Given the description of an element on the screen output the (x, y) to click on. 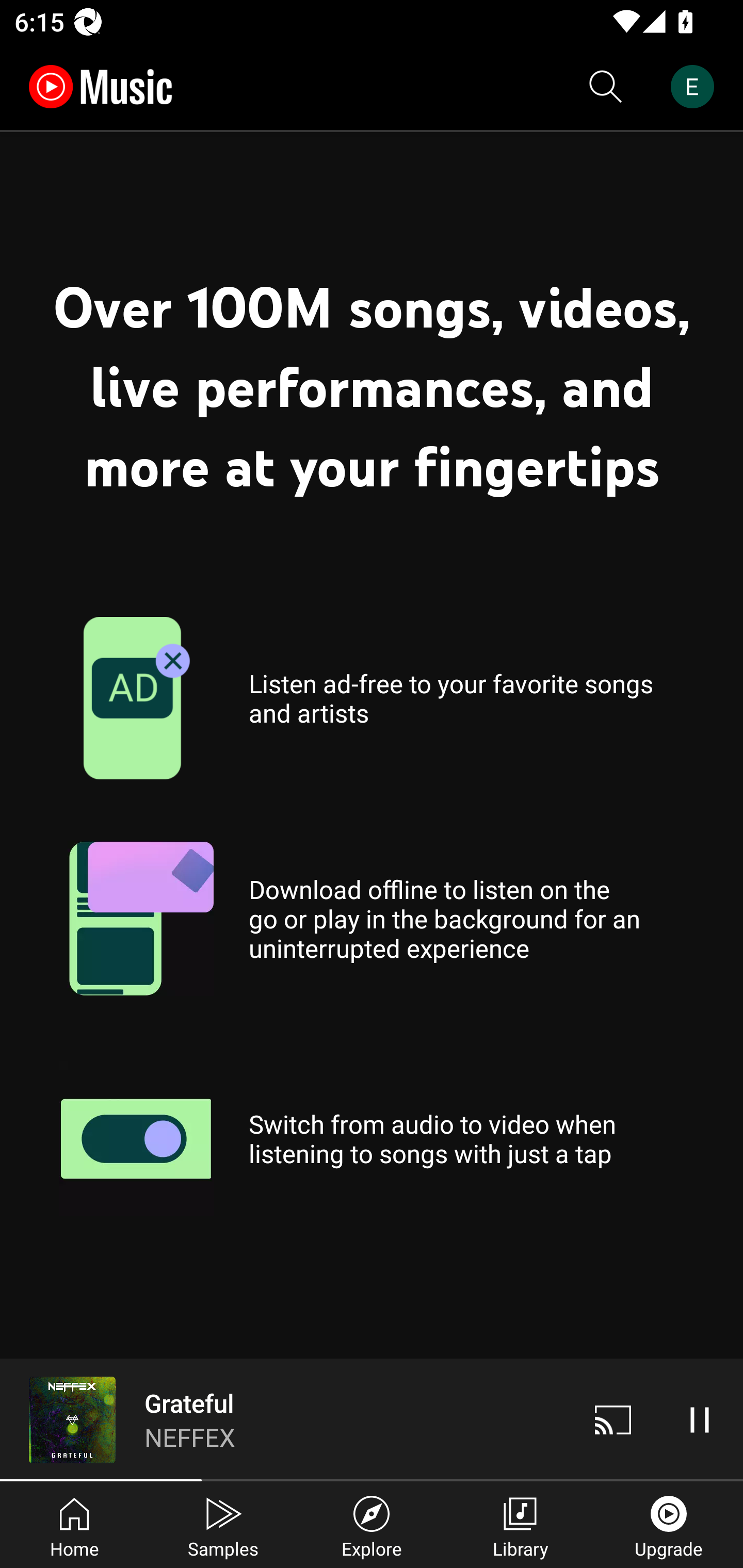
Search (605, 86)
Account (696, 86)
Grateful NEFFEX (284, 1419)
Cast. Disconnected (612, 1419)
Pause video (699, 1419)
Home (74, 1524)
Samples (222, 1524)
Explore (371, 1524)
Library (519, 1524)
Upgrade (668, 1524)
